Given the description of an element on the screen output the (x, y) to click on. 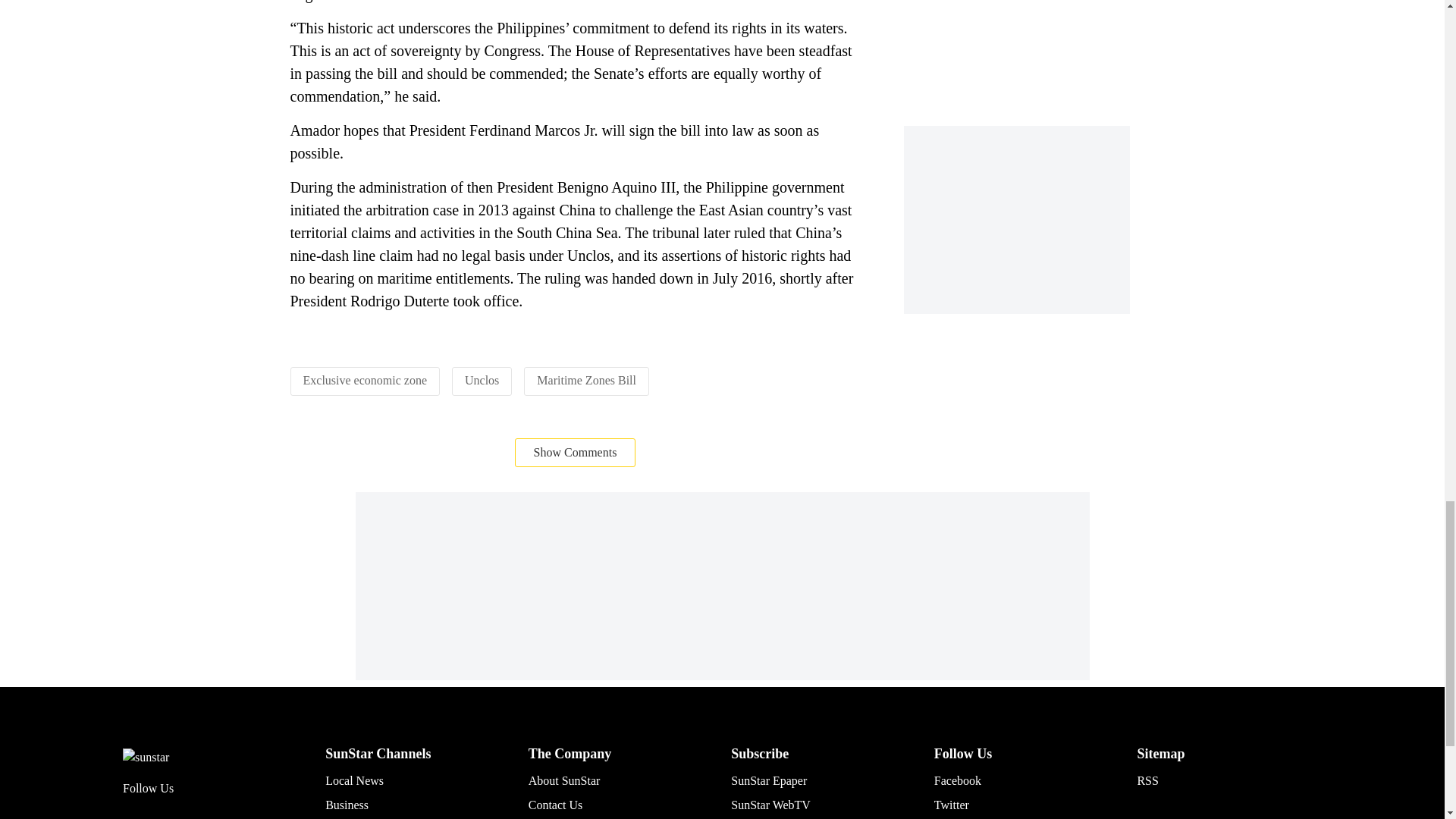
Exclusive economic zone (365, 379)
Unclos (481, 379)
Show Comments (575, 452)
Maritime Zones Bill (586, 379)
